Given the description of an element on the screen output the (x, y) to click on. 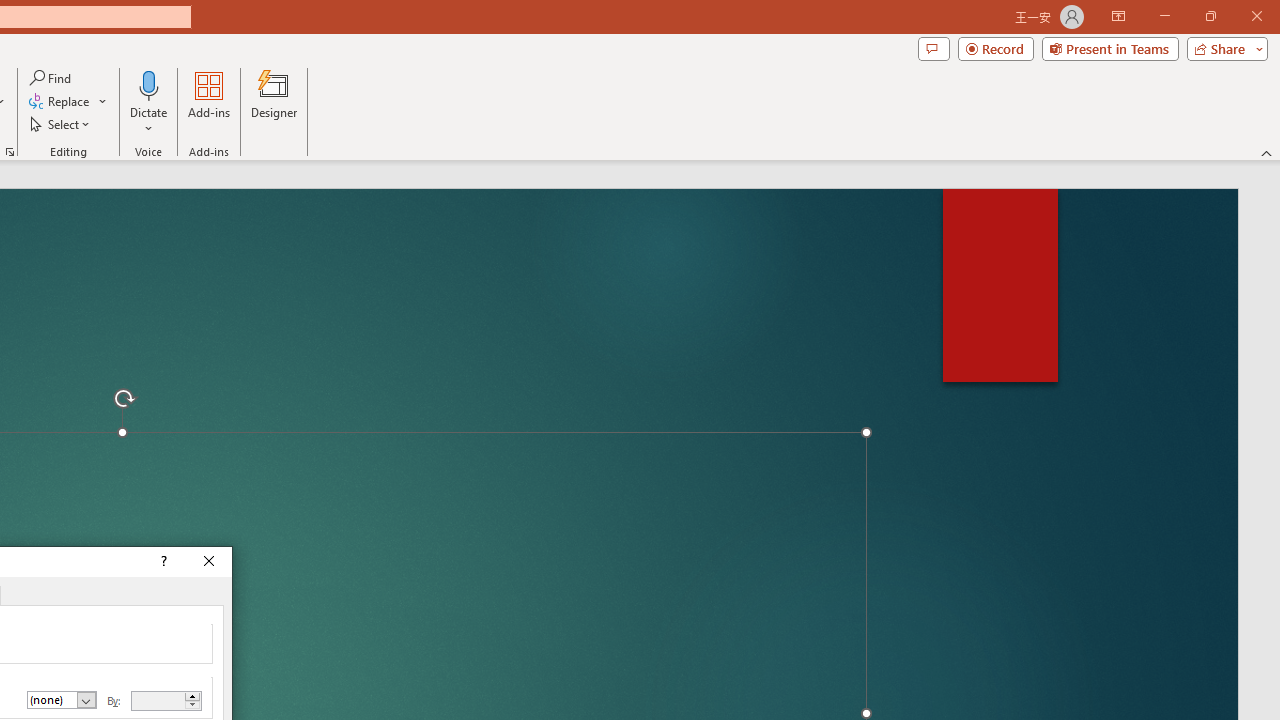
By (157, 700)
